Given the description of an element on the screen output the (x, y) to click on. 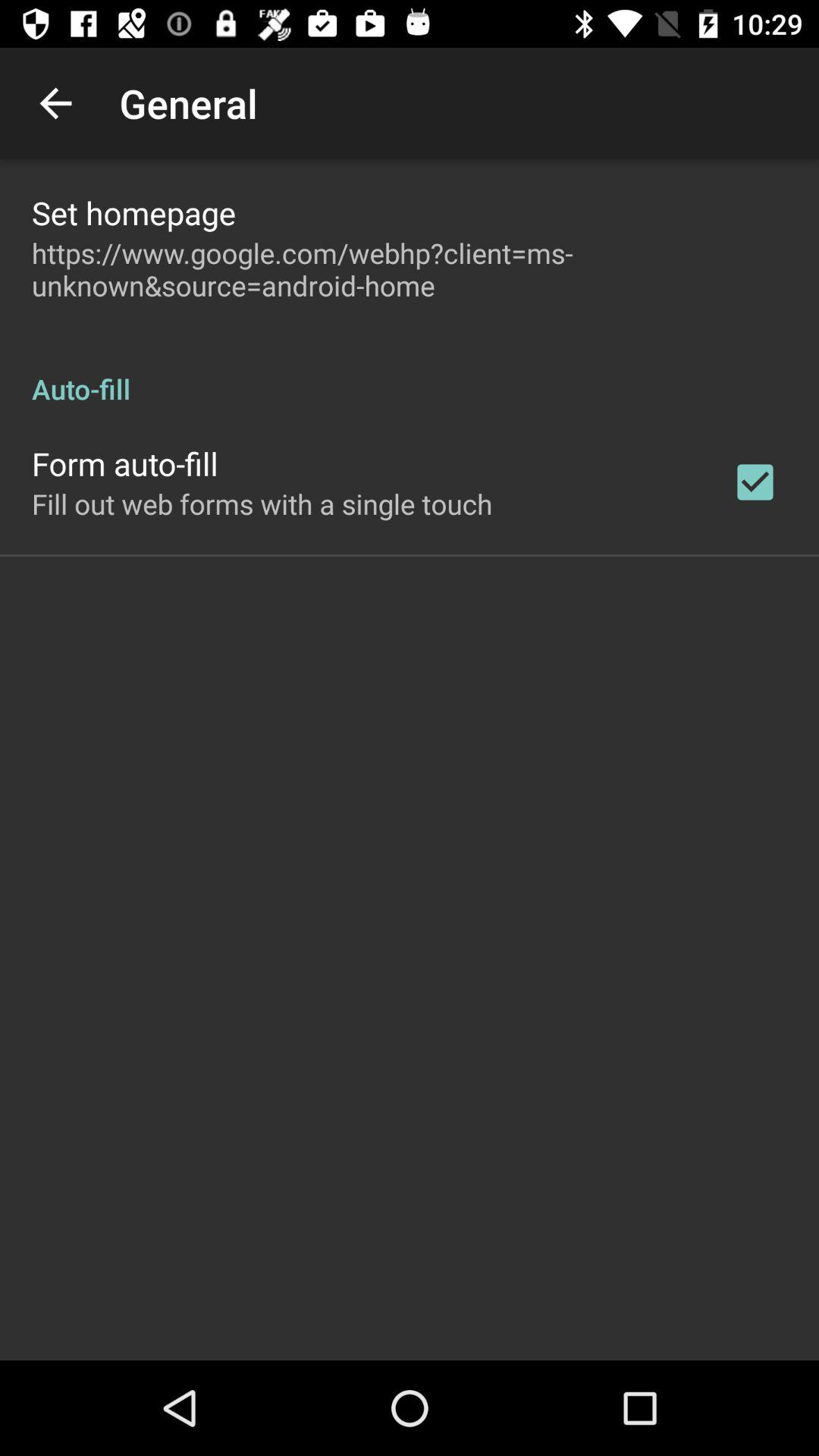
select app above set homepage app (55, 103)
